Given the description of an element on the screen output the (x, y) to click on. 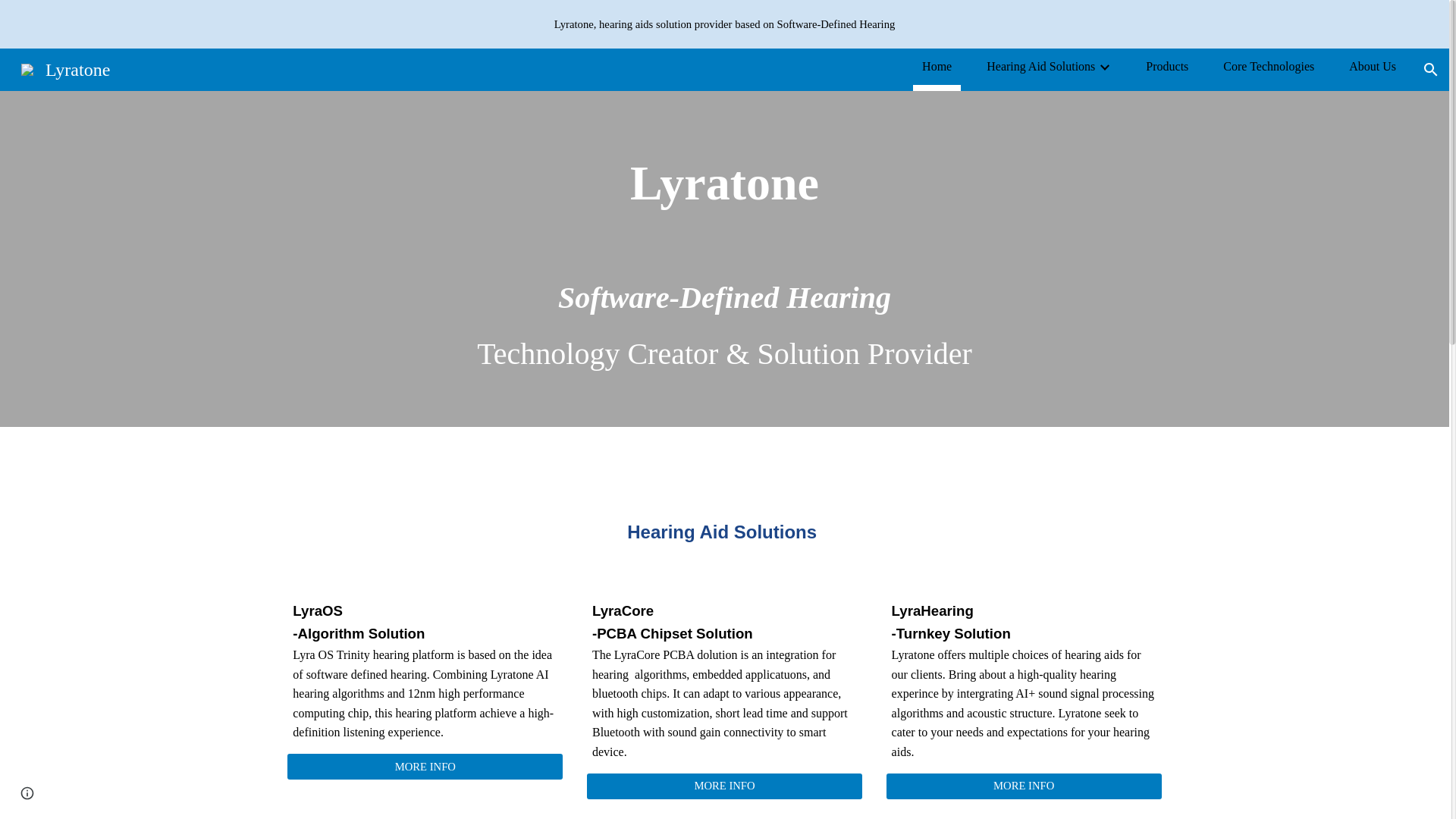
About Us (1372, 66)
MORE INFO (1023, 785)
Hearing Aid Solutions (1040, 66)
MORE INFO (723, 785)
MORE INFO (424, 766)
Lyratone (65, 67)
Core Technologies (1268, 66)
Products (1166, 66)
Home (936, 66)
